Given the description of an element on the screen output the (x, y) to click on. 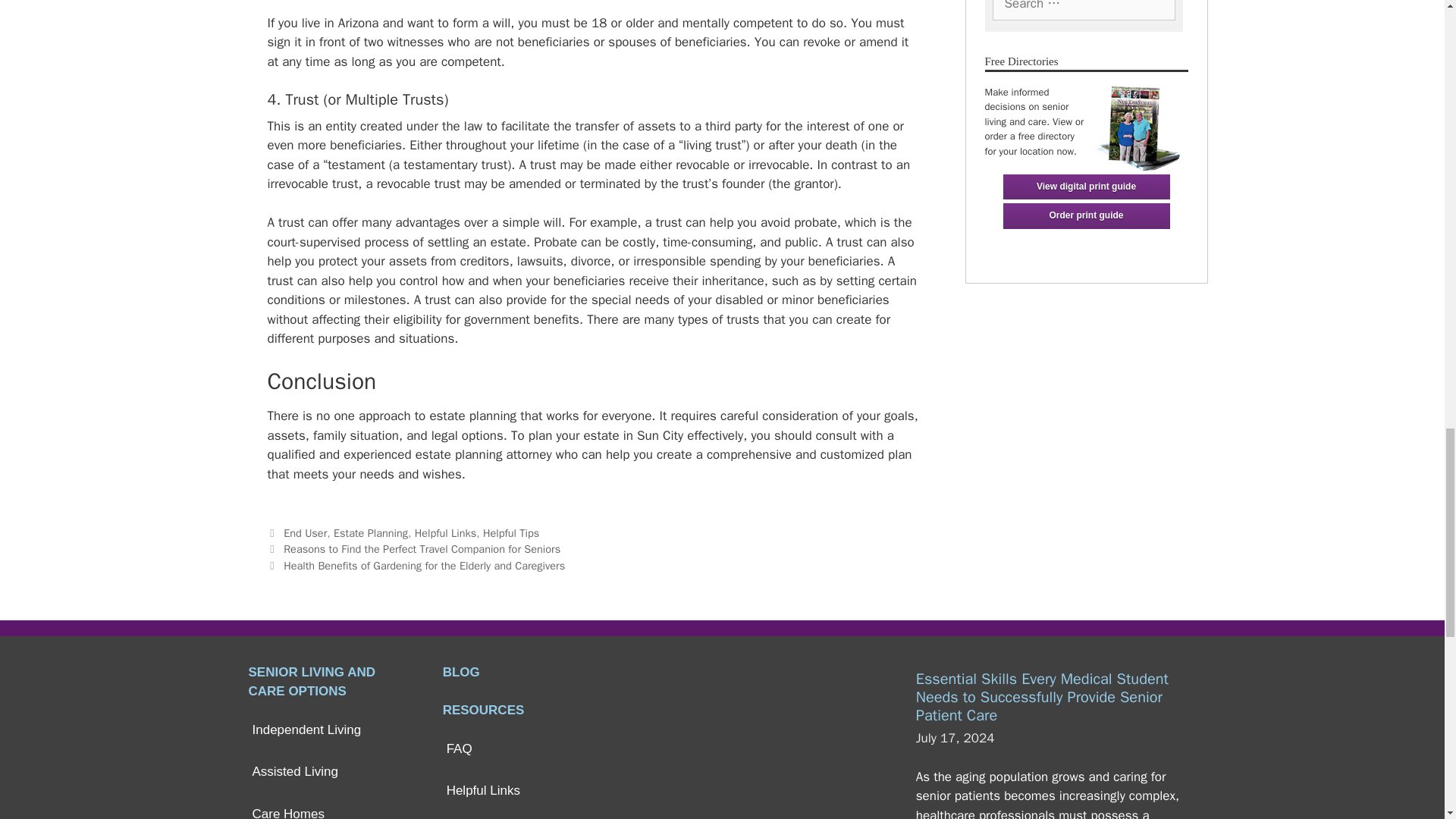
Previous (413, 549)
directory (1137, 123)
Search for: (1082, 10)
Next (415, 565)
